Given the description of an element on the screen output the (x, y) to click on. 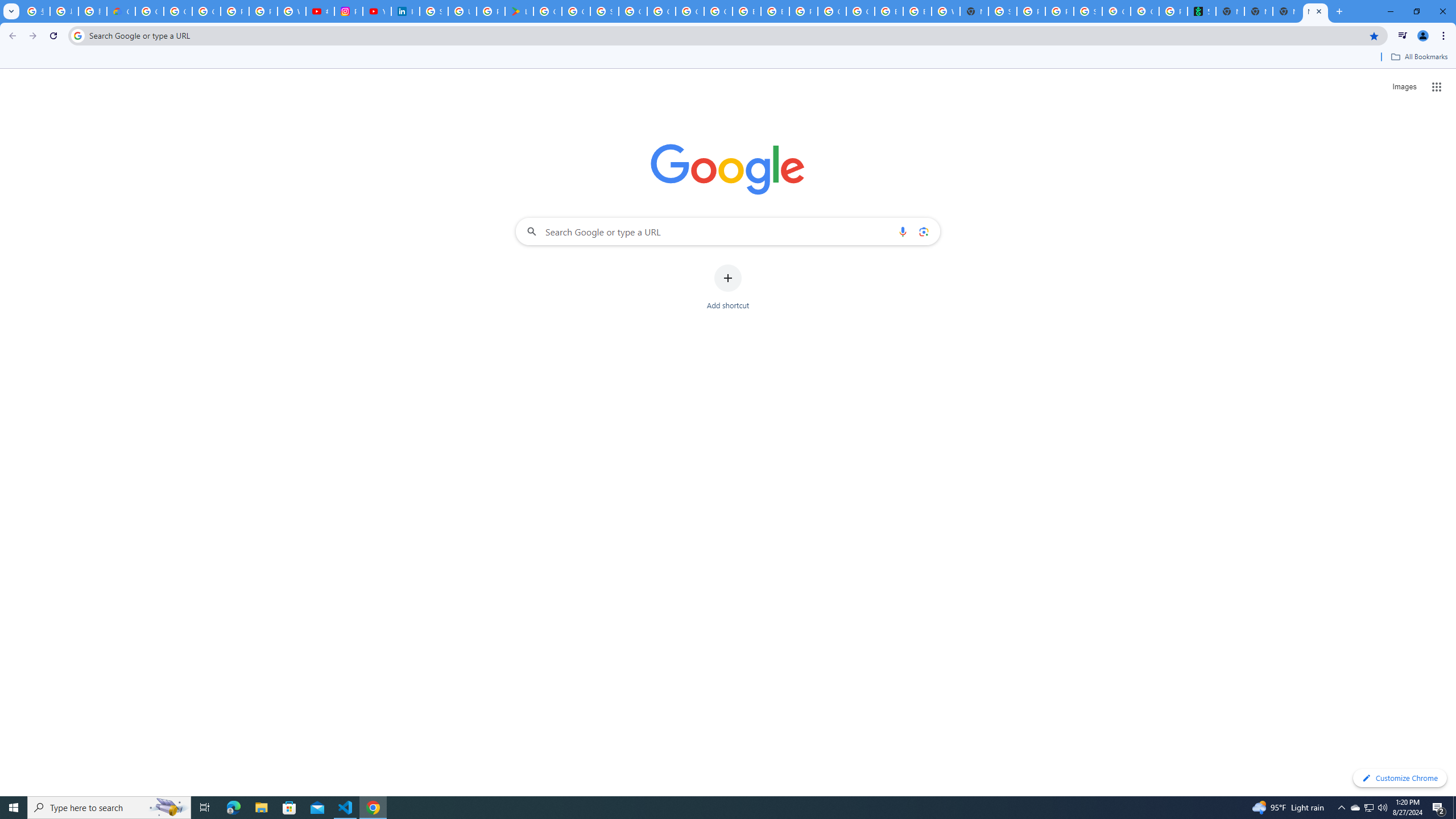
Google Workspace - Specific Terms (575, 11)
